Given the description of an element on the screen output the (x, y) to click on. 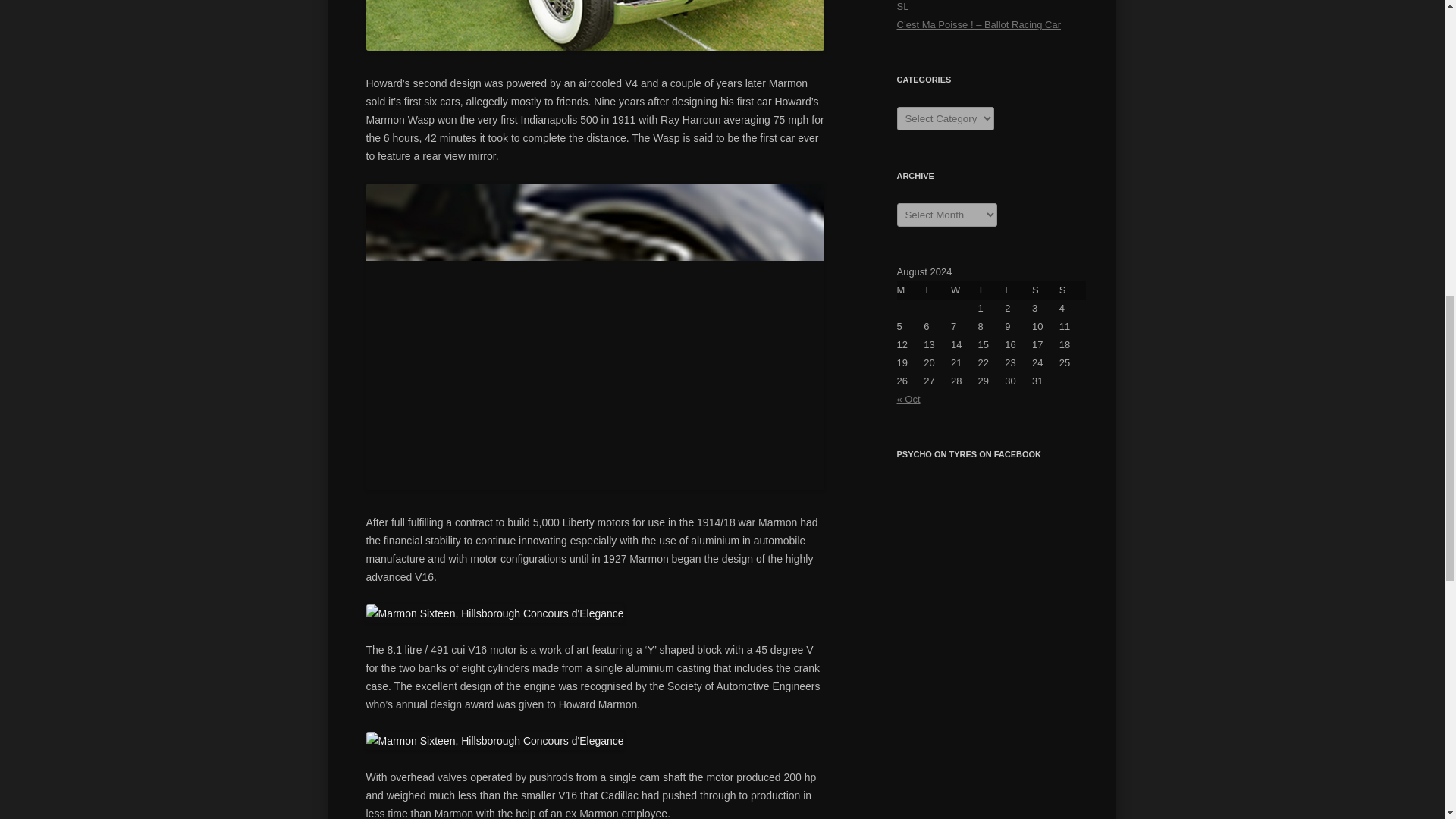
Monday (909, 290)
03 Copyright 2012 Geoffrey Horton -28sc (494, 613)
04 Copyright 2012 Geoffrey Horton -32sc (494, 741)
01 Copyright 2012 Geoffrey Horton -27sc (594, 25)
